Given the description of an element on the screen output the (x, y) to click on. 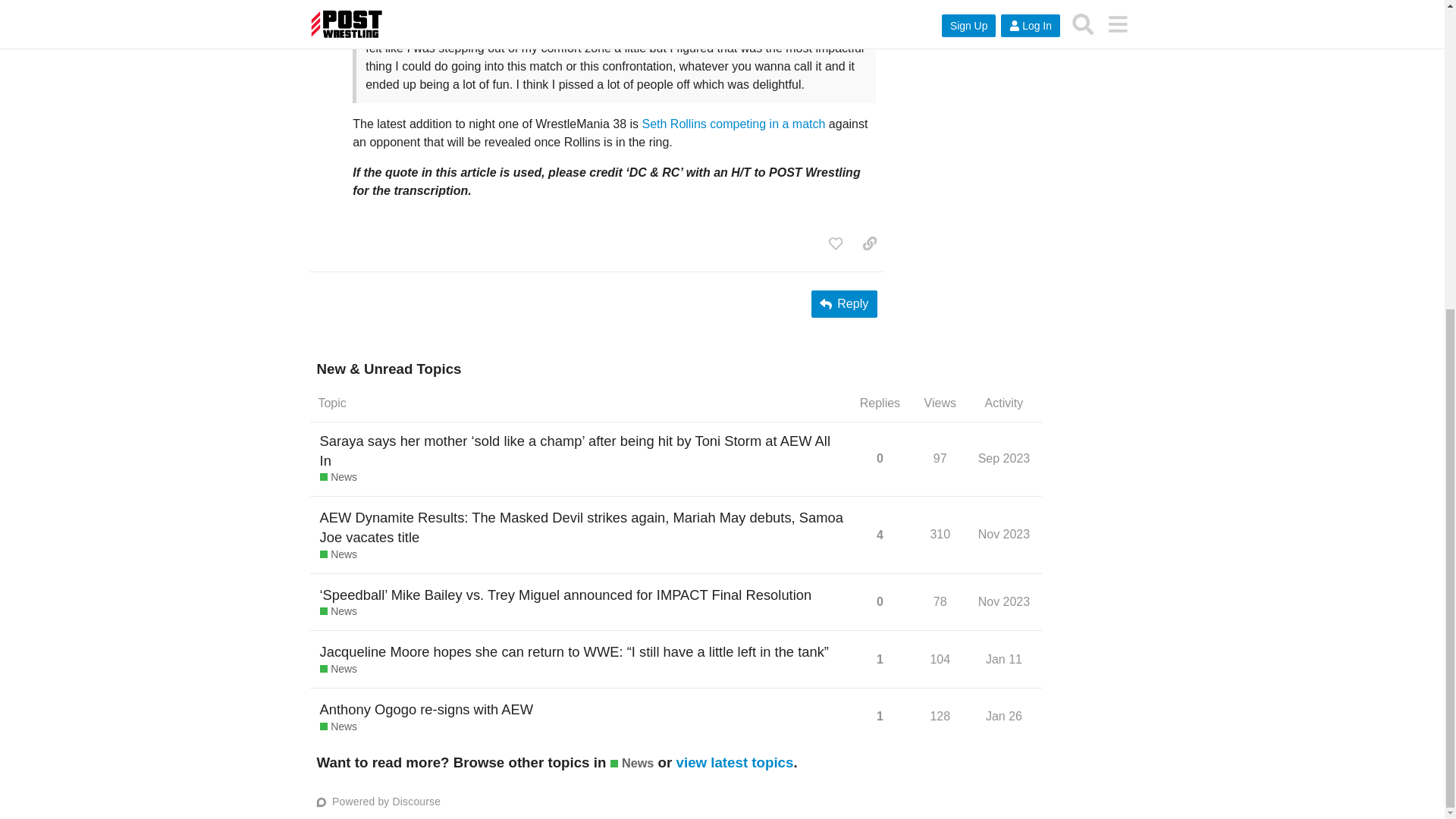
News (338, 477)
Anthony Ogogo re-signs with AEW (427, 709)
copy a link to this post to clipboard (869, 243)
News (338, 611)
News (338, 726)
like this post (1005, 534)
this topic has been viewed 97 times (835, 243)
Nov 2023 (940, 458)
News (1003, 601)
Nov 2023 (338, 554)
Sep 2023 (1003, 534)
